Given the description of an element on the screen output the (x, y) to click on. 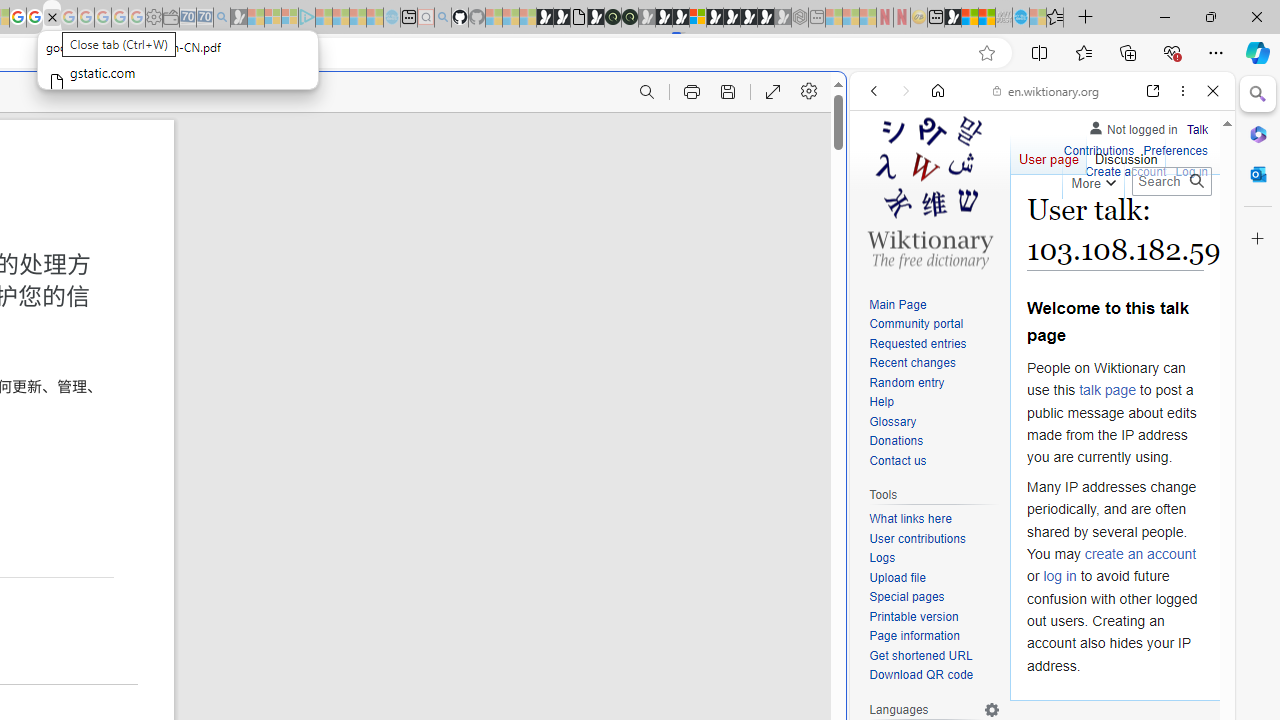
Contributions (1098, 148)
Play Cave FRVR in your browser | Games from Microsoft Start (343, 426)
Search Filter, IMAGES (939, 228)
Microsoft Start - Sleeping (357, 17)
Help (934, 403)
Special pages (934, 597)
Earth has six continents not seven, radical new study claims (986, 17)
google_privacy_policy_zh-CN.pdf (51, 17)
